Given the description of an element on the screen output the (x, y) to click on. 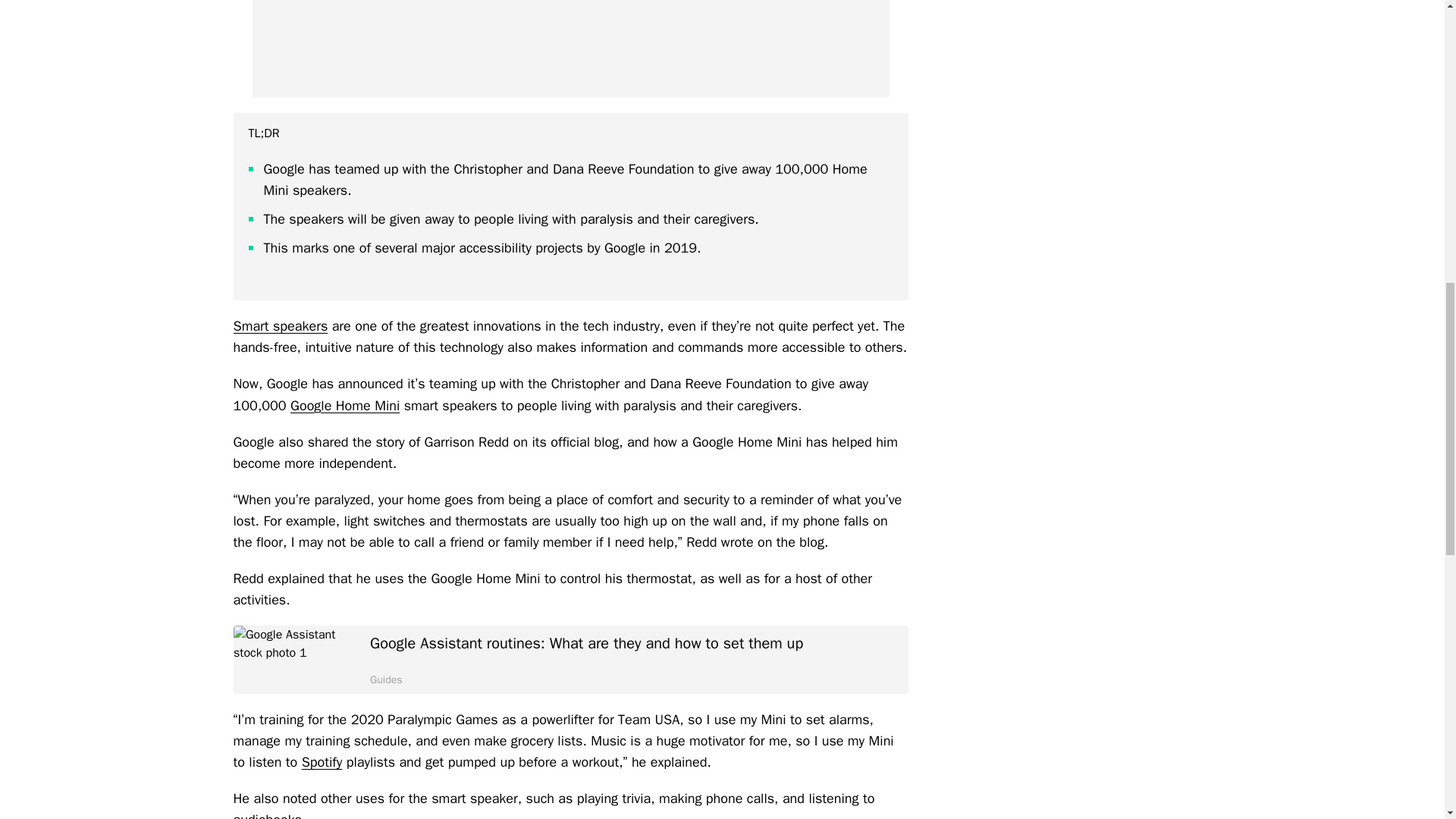
Google Home Mini (343, 405)
Smart speakers (280, 325)
Spotify (321, 761)
Google Assistant stock photo 1 (293, 659)
google home mini aqua aa 3 (569, 48)
